Given the description of an element on the screen output the (x, y) to click on. 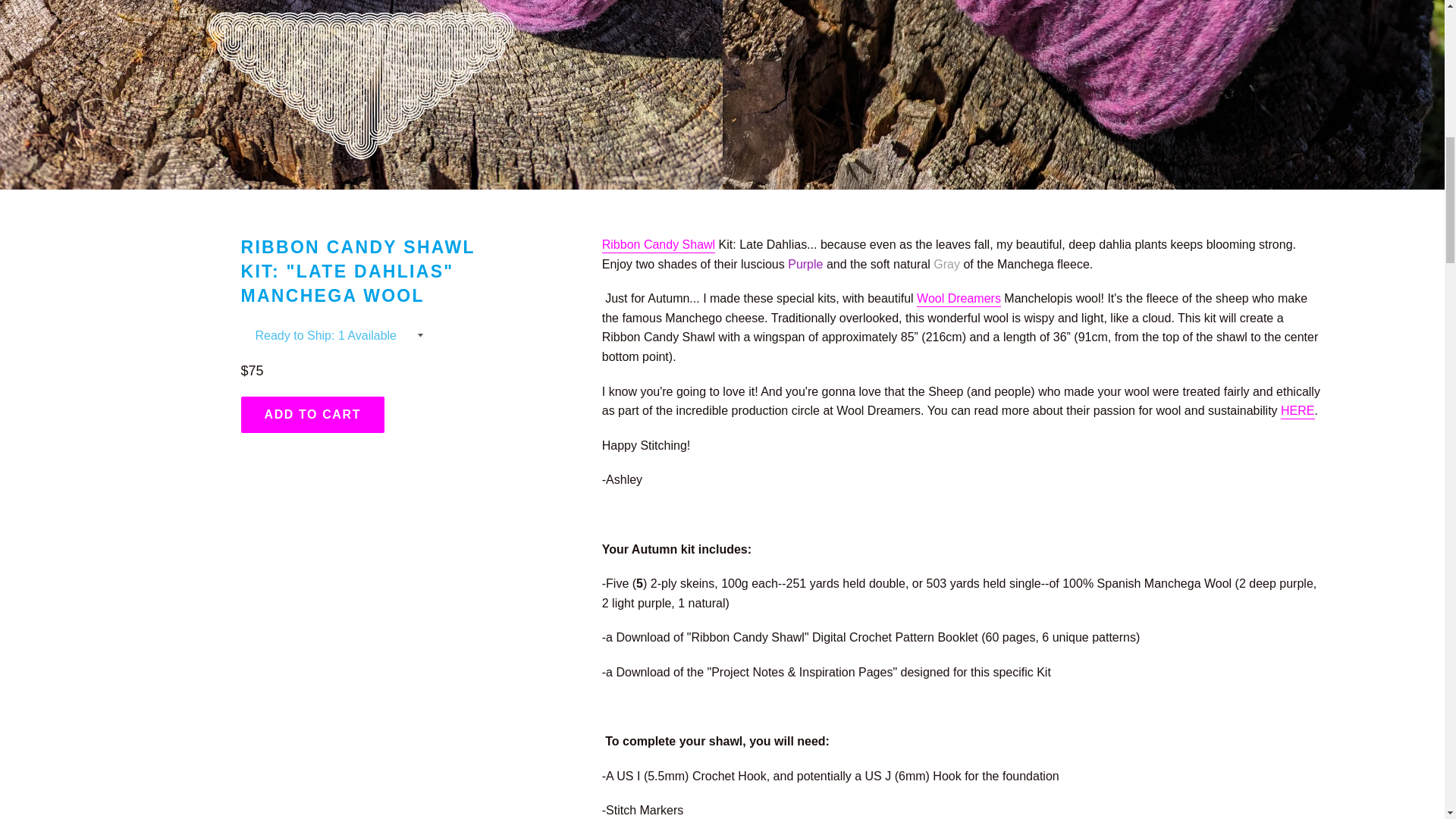
Share on Facebook (635, 452)
Pin on Pinterest (794, 452)
Ribbon Candy Shawl pattern (716, 452)
Tweet on Twitter (772, 321)
